Given the description of an element on the screen output the (x, y) to click on. 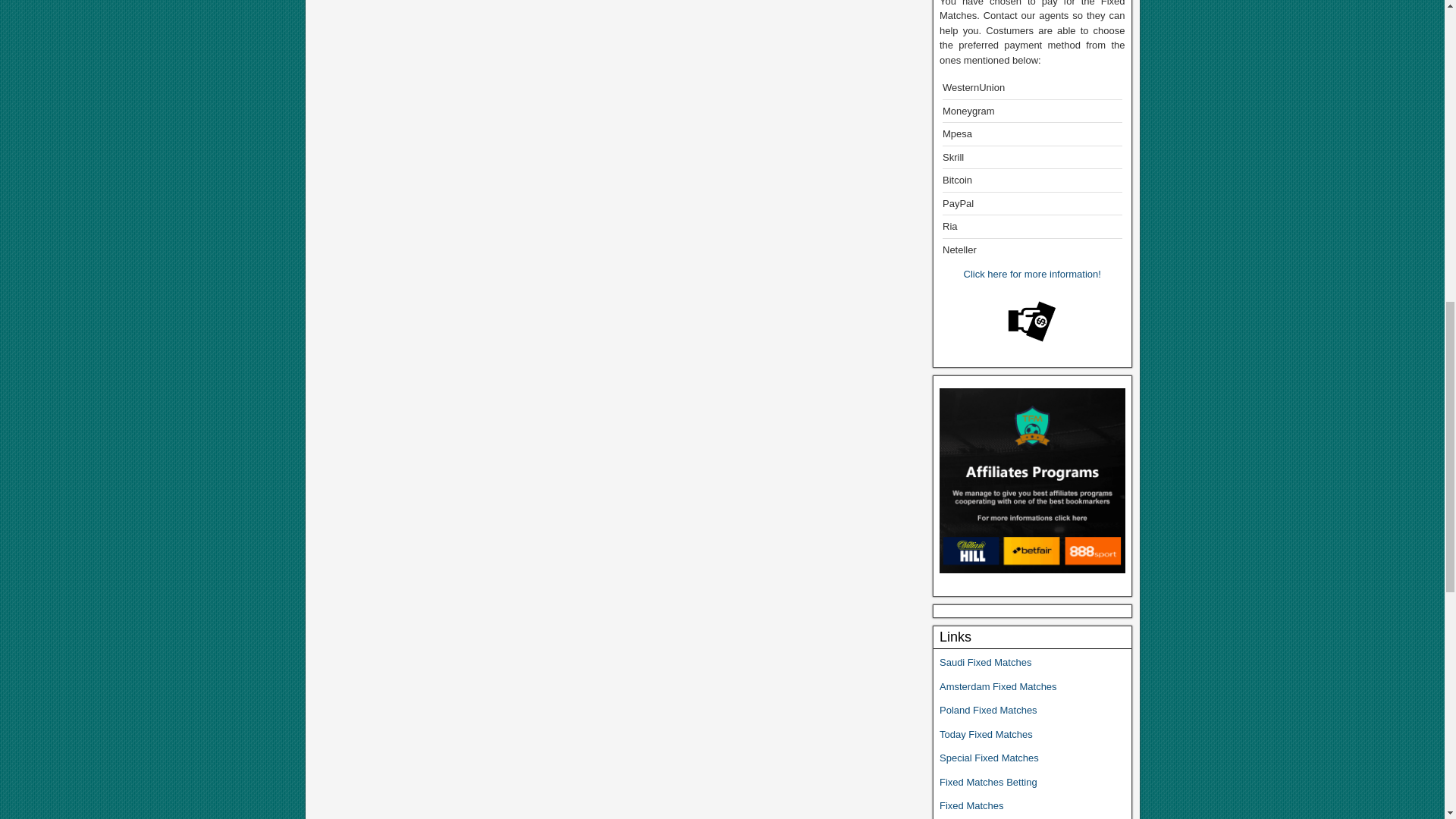
Saudi Fixed Matches (984, 662)
Click here for more information! (1031, 274)
Amsterdam Fixed Matches (998, 686)
Fixed Matches Betting (987, 781)
Special Fixed Matches (989, 757)
Poland Fixed Matches (987, 709)
Today Fixed Matches  (987, 734)
Fixed Matches (971, 805)
